Given the description of an element on the screen output the (x, y) to click on. 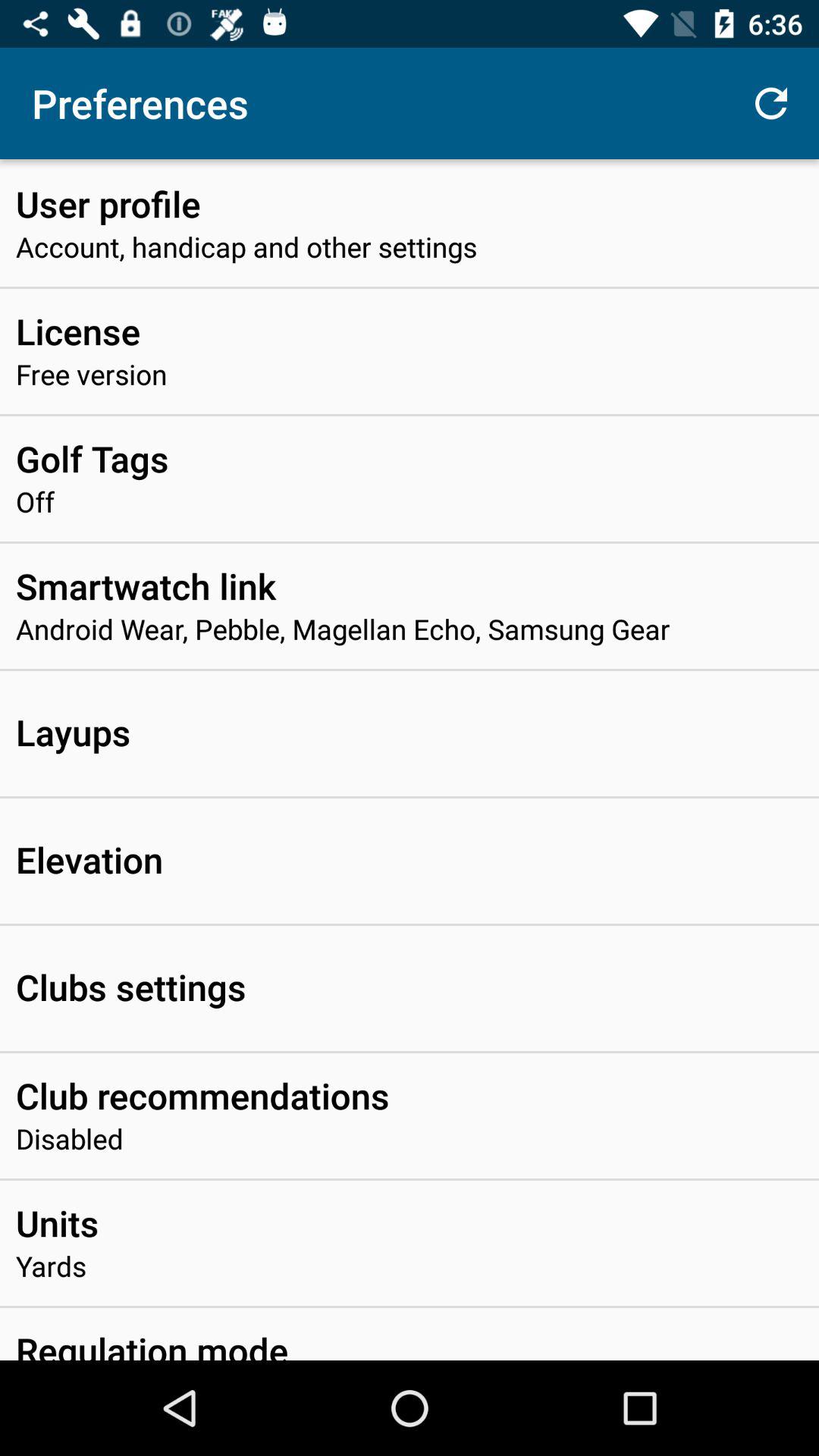
tap the icon to the right of the preferences (771, 103)
